Given the description of an element on the screen output the (x, y) to click on. 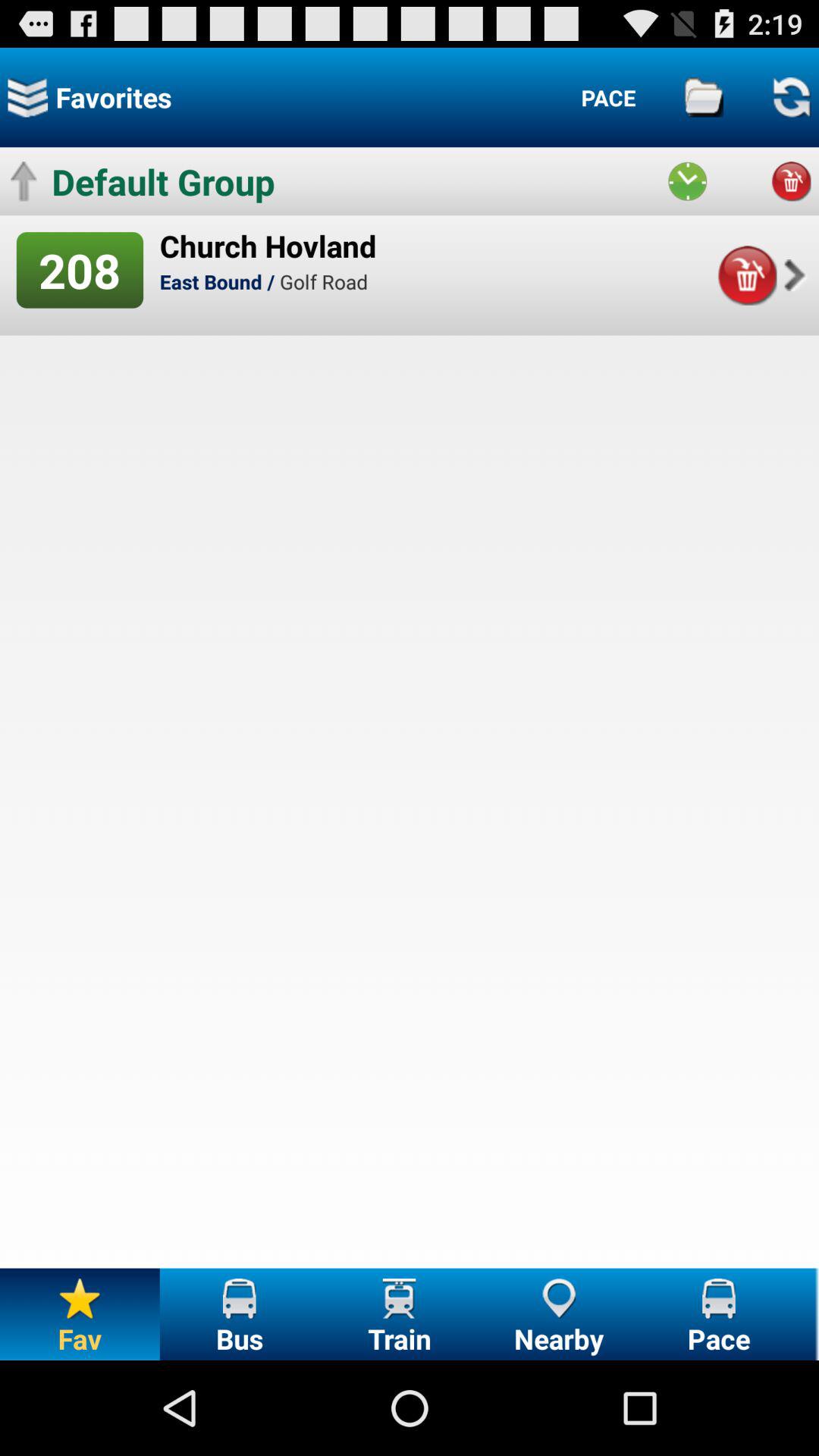
delete option (791, 181)
